Given the description of an element on the screen output the (x, y) to click on. 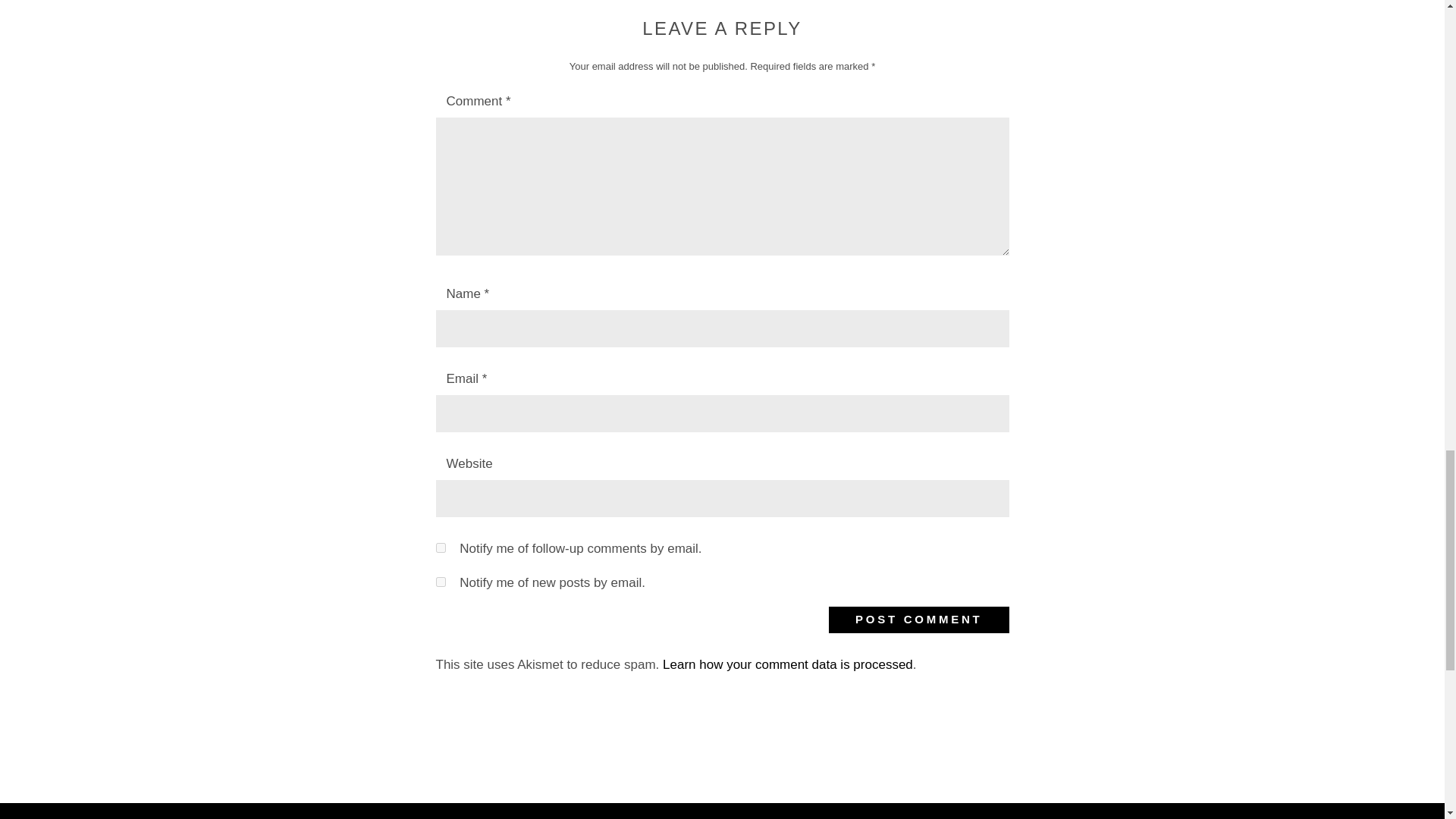
subscribe (440, 582)
Post Comment (918, 619)
subscribe (440, 547)
Post Comment (918, 619)
Learn how your comment data is processed (787, 664)
